Given the description of an element on the screen output the (x, y) to click on. 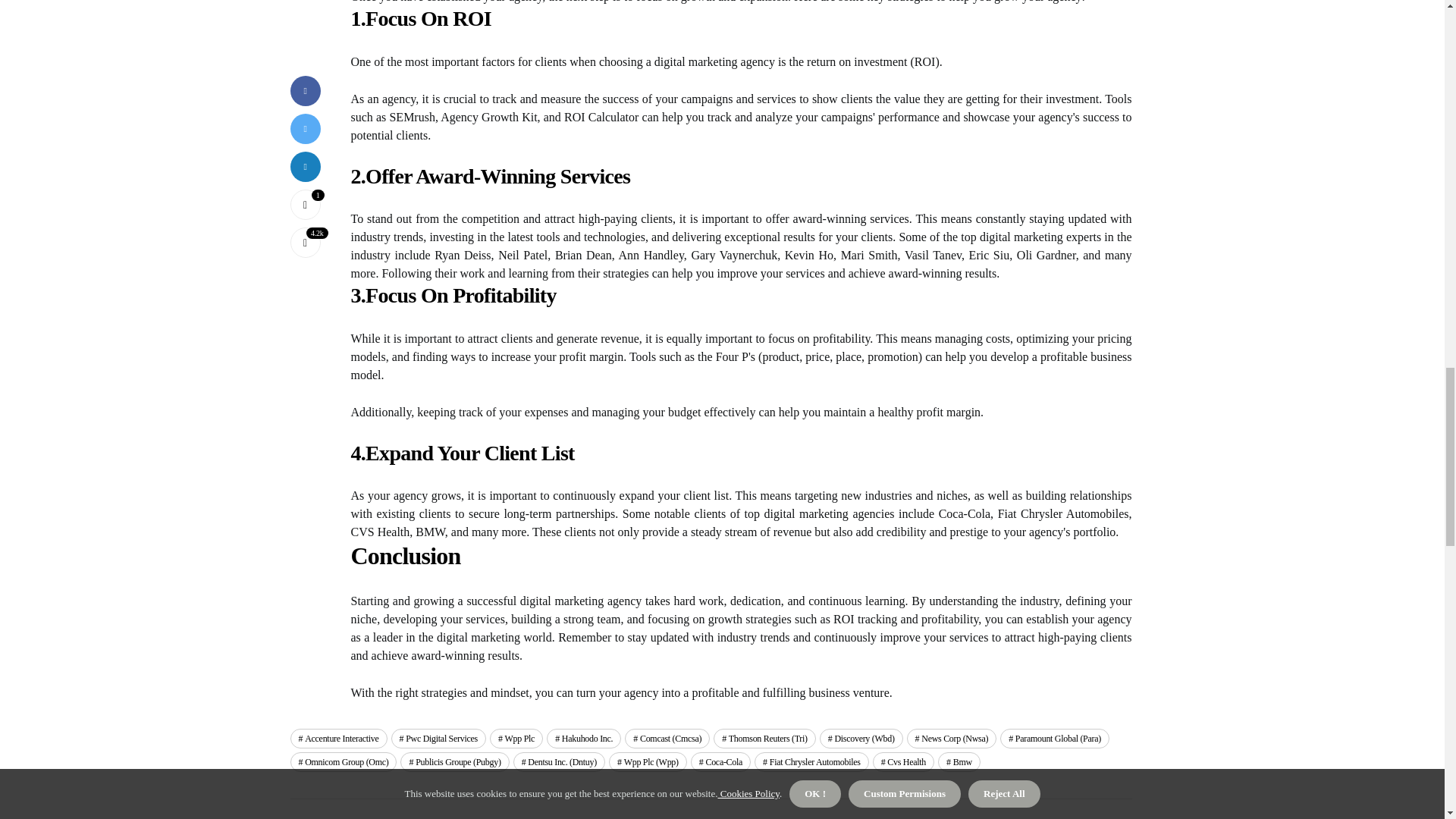
Cvs Health (903, 762)
Accenture Interactive (338, 738)
Bmw (958, 762)
Wpp Plc (516, 738)
Hakuhodo Inc. (584, 738)
Coca-Cola (720, 762)
Pwc Digital Services (438, 738)
Fiat Chrysler Automobiles (811, 762)
